Given the description of an element on the screen output the (x, y) to click on. 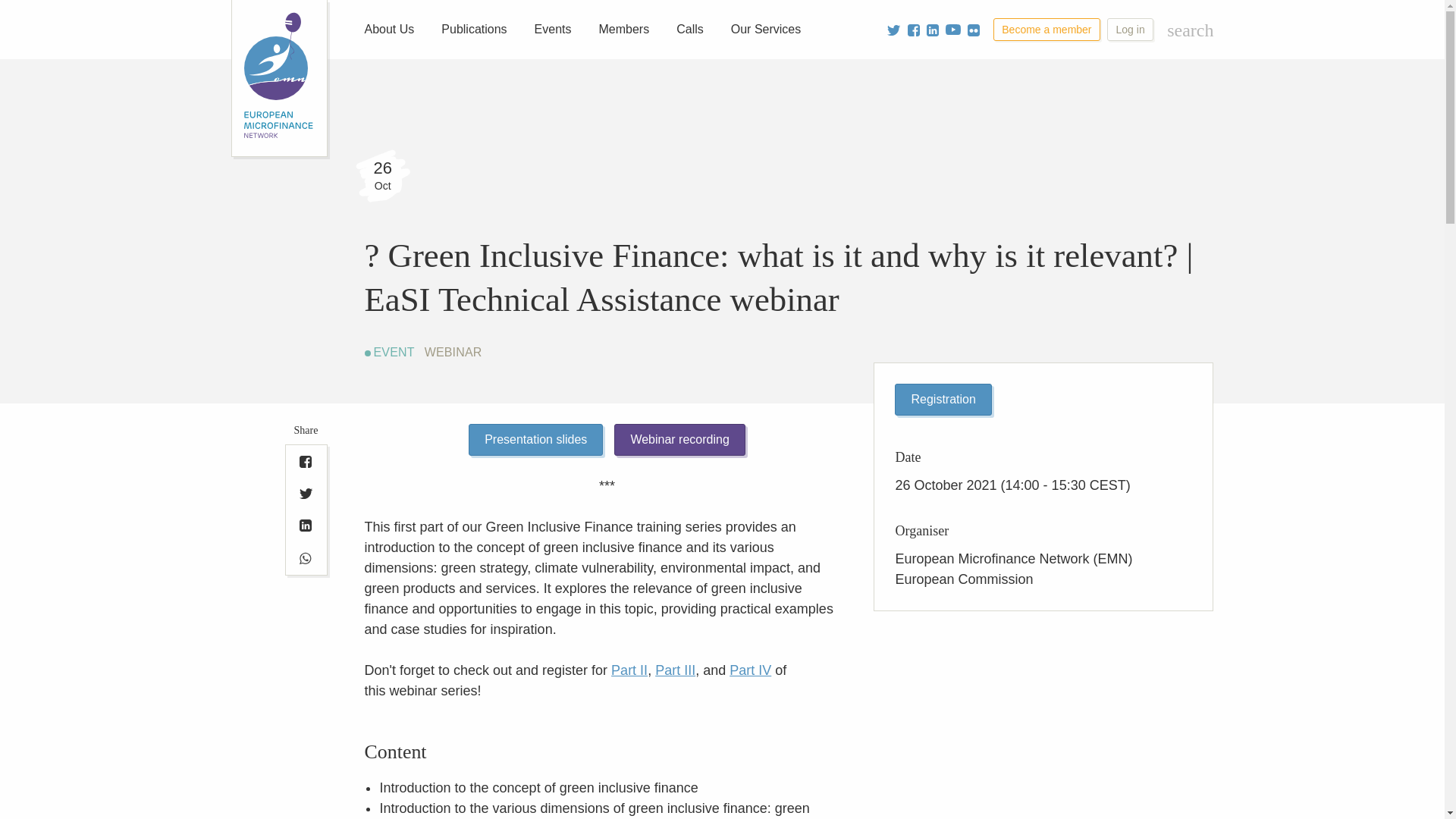
About Us (389, 29)
Part IV (750, 670)
Part II (629, 670)
search (1189, 30)
Become a member (1046, 29)
Facebook share (305, 461)
Publications (473, 29)
Our Services (765, 29)
LinkedIn (305, 524)
